Given the description of an element on the screen output the (x, y) to click on. 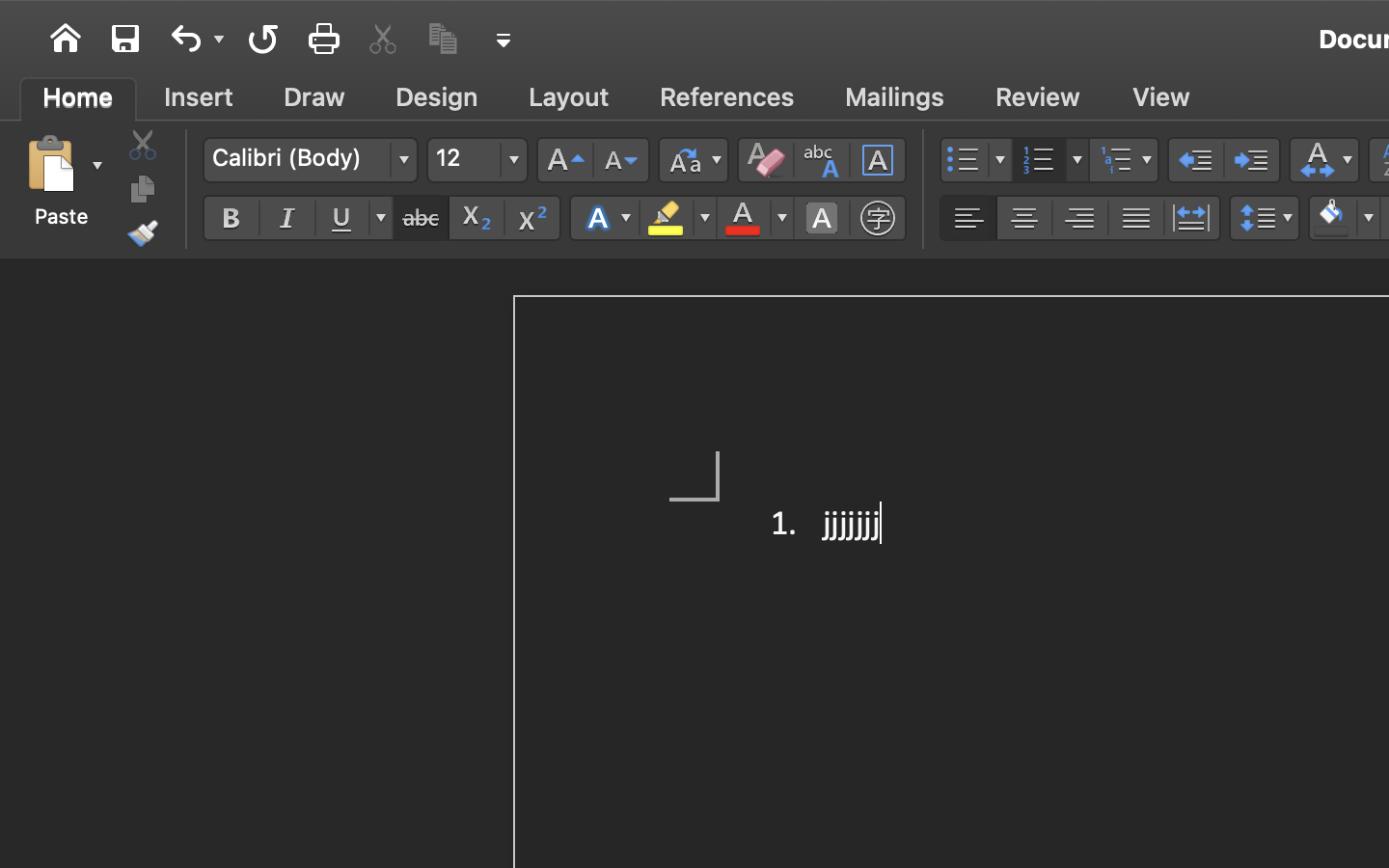
1 Element type: AXRadioButton (77, 97)
12 Element type: AXComboBox (477, 160)
Calibri (Body) Element type: AXComboBox (310, 160)
0 Element type: AXRadioButton (726, 97)
